Given the description of an element on the screen output the (x, y) to click on. 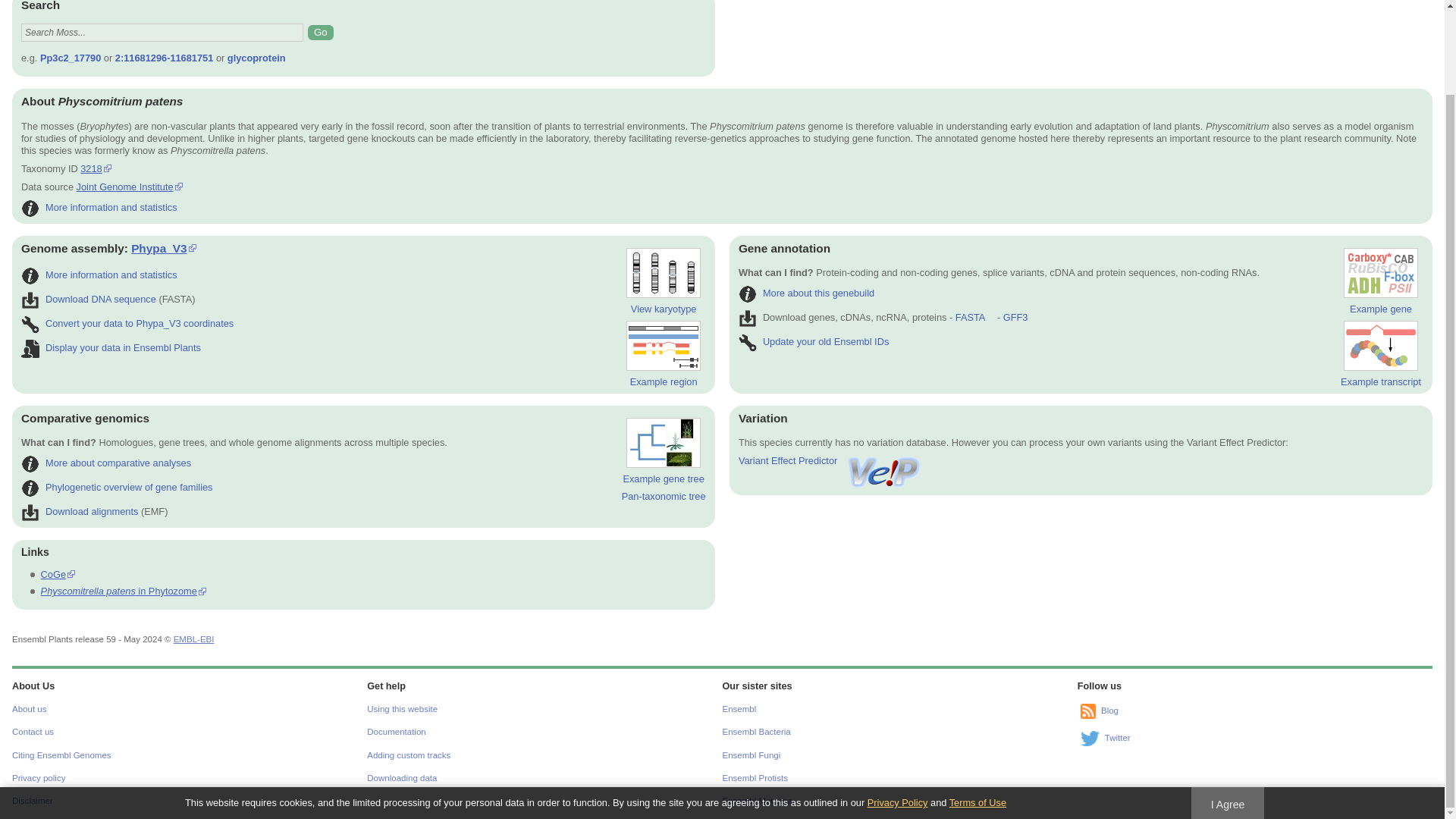
Search Moss... (161, 32)
Follow us on Twitter! (1089, 738)
Go (320, 32)
Ensembl blog (1088, 711)
